Given the description of an element on the screen output the (x, y) to click on. 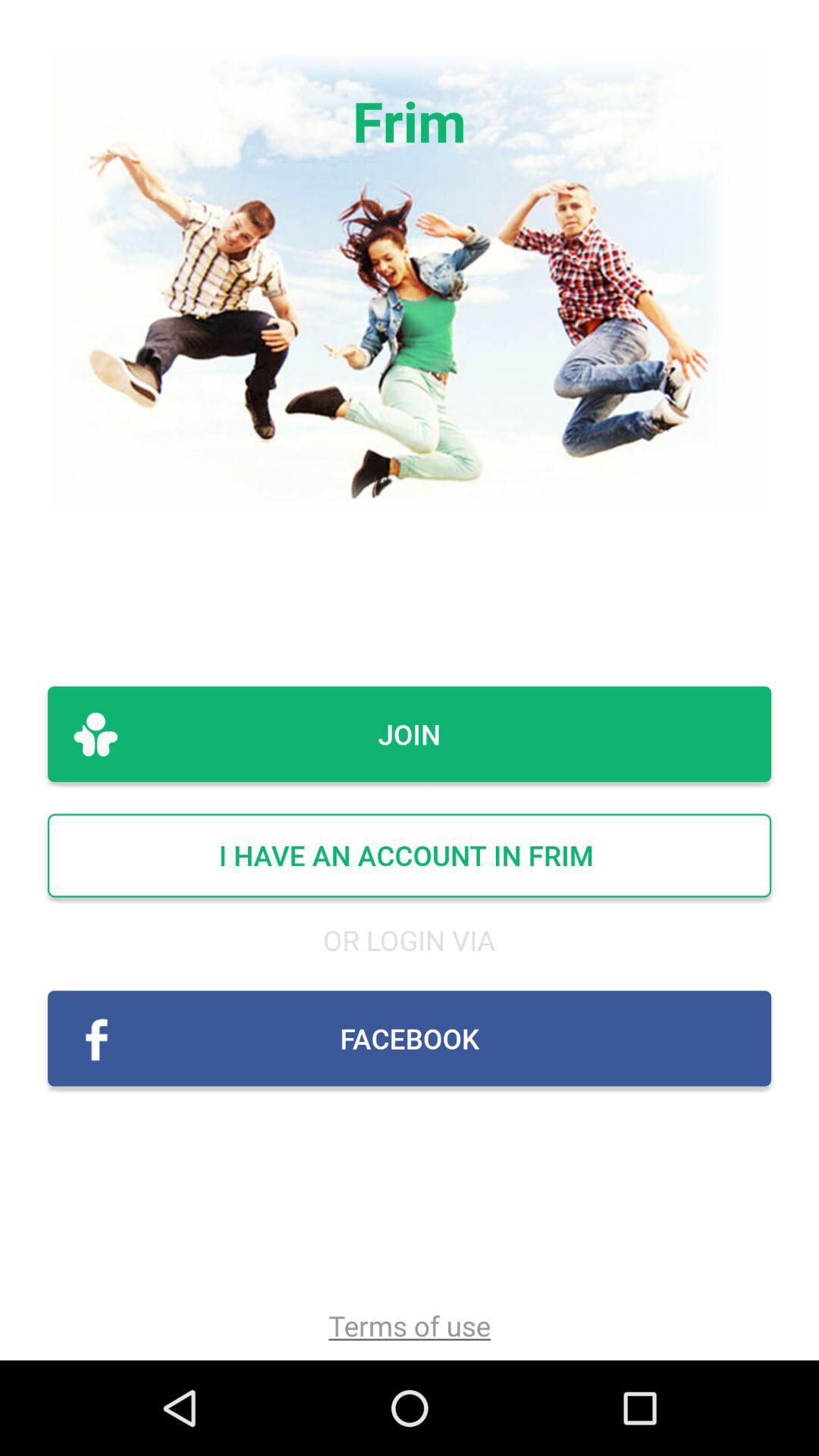
swipe to facebook (409, 1038)
